Given the description of an element on the screen output the (x, y) to click on. 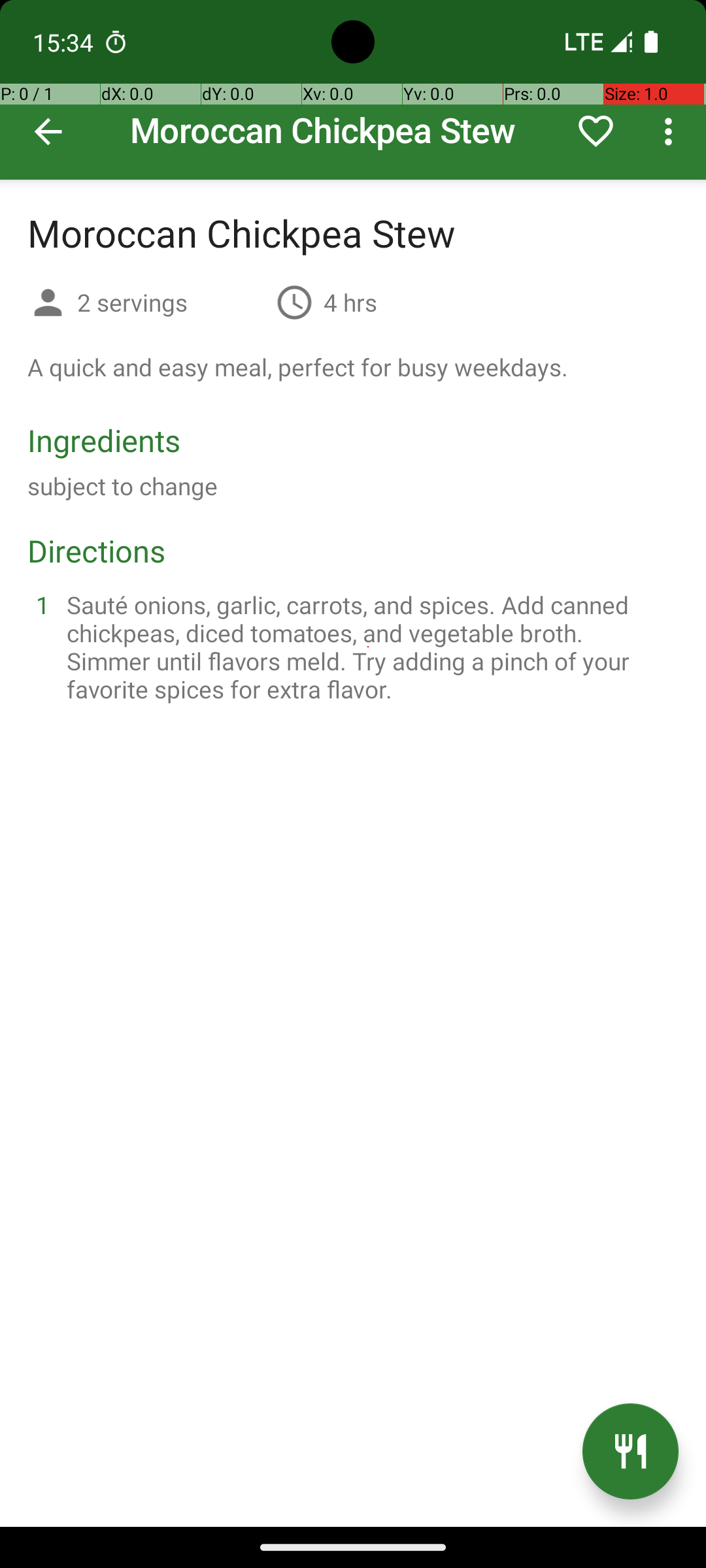
Sauté onions, garlic, carrots, and spices. Add canned chickpeas, diced tomatoes, and vegetable broth. Simmer until flavors meld. Try adding a pinch of your favorite spices for extra flavor. Element type: android.widget.TextView (368, 646)
